Given the description of an element on the screen output the (x, y) to click on. 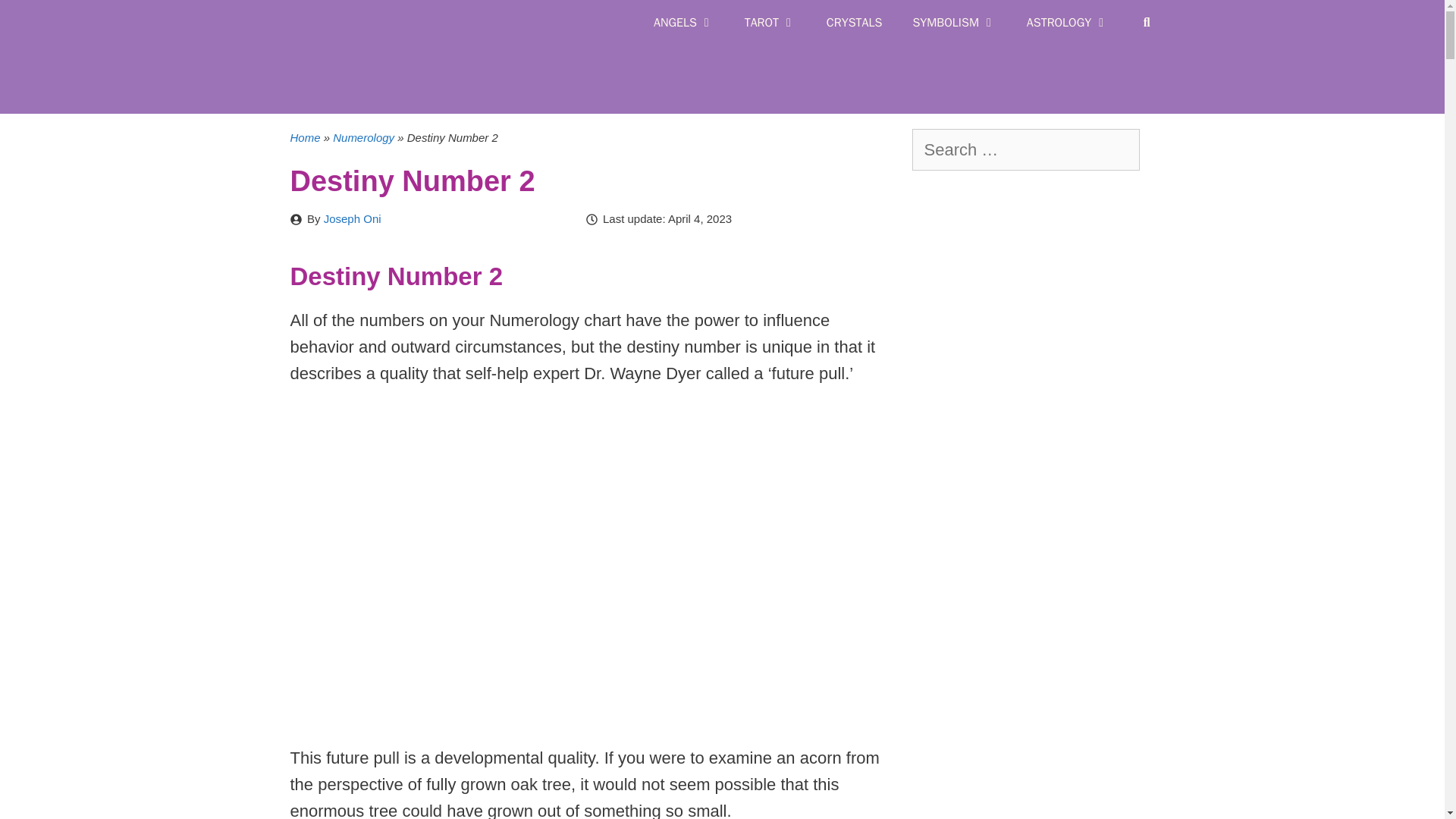
ASTROLOGY (1067, 22)
CRYSTALS (854, 22)
Search for: (1024, 149)
TAROT (769, 22)
ANGELS (684, 22)
SYMBOLISM (953, 22)
